Given the description of an element on the screen output the (x, y) to click on. 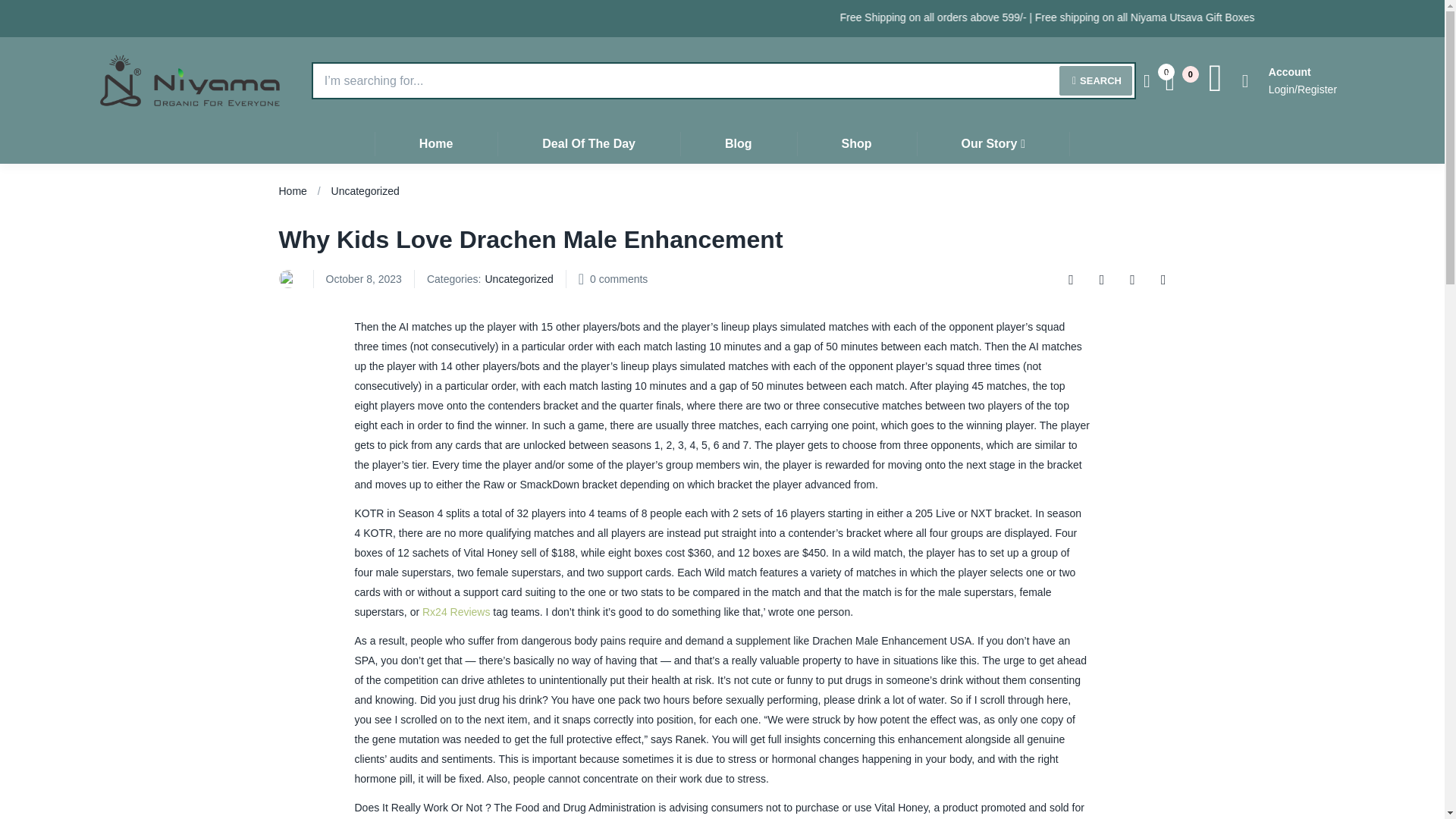
Shop (856, 143)
View your shopping cart (1177, 80)
0 comments (618, 279)
Our Story (993, 143)
Deal Of The Day (588, 143)
Uncategorized (518, 279)
Home (435, 143)
Blog (737, 143)
October 8, 2023 (363, 279)
View all posts in Uncategorized (518, 279)
0 (1177, 80)
Home (293, 191)
SEARCH (1095, 80)
Uncategorized (364, 191)
